Given the description of an element on the screen output the (x, y) to click on. 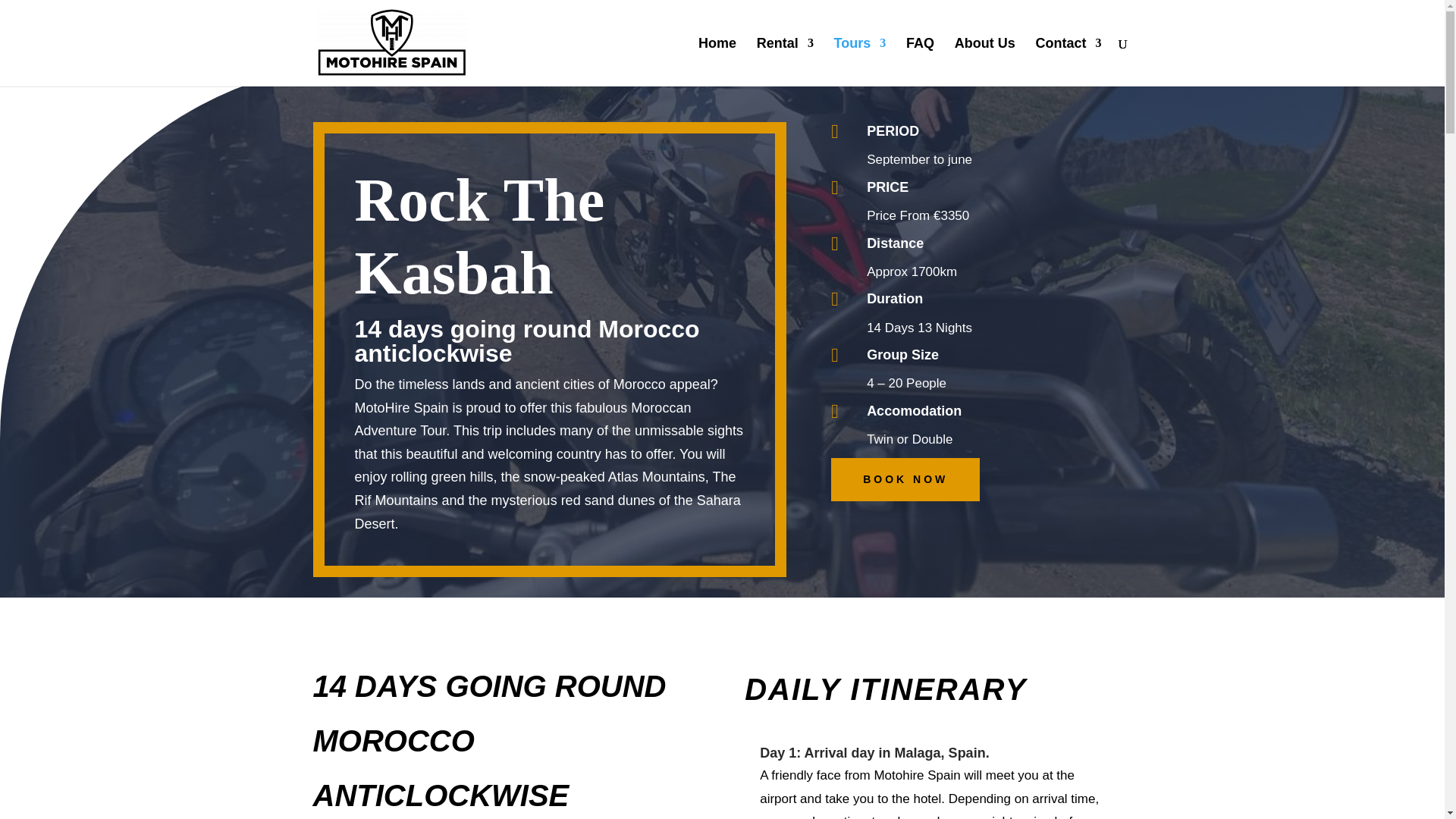
Tours (860, 61)
Rental (785, 61)
Contact (1068, 61)
About Us (984, 61)
